Given the description of an element on the screen output the (x, y) to click on. 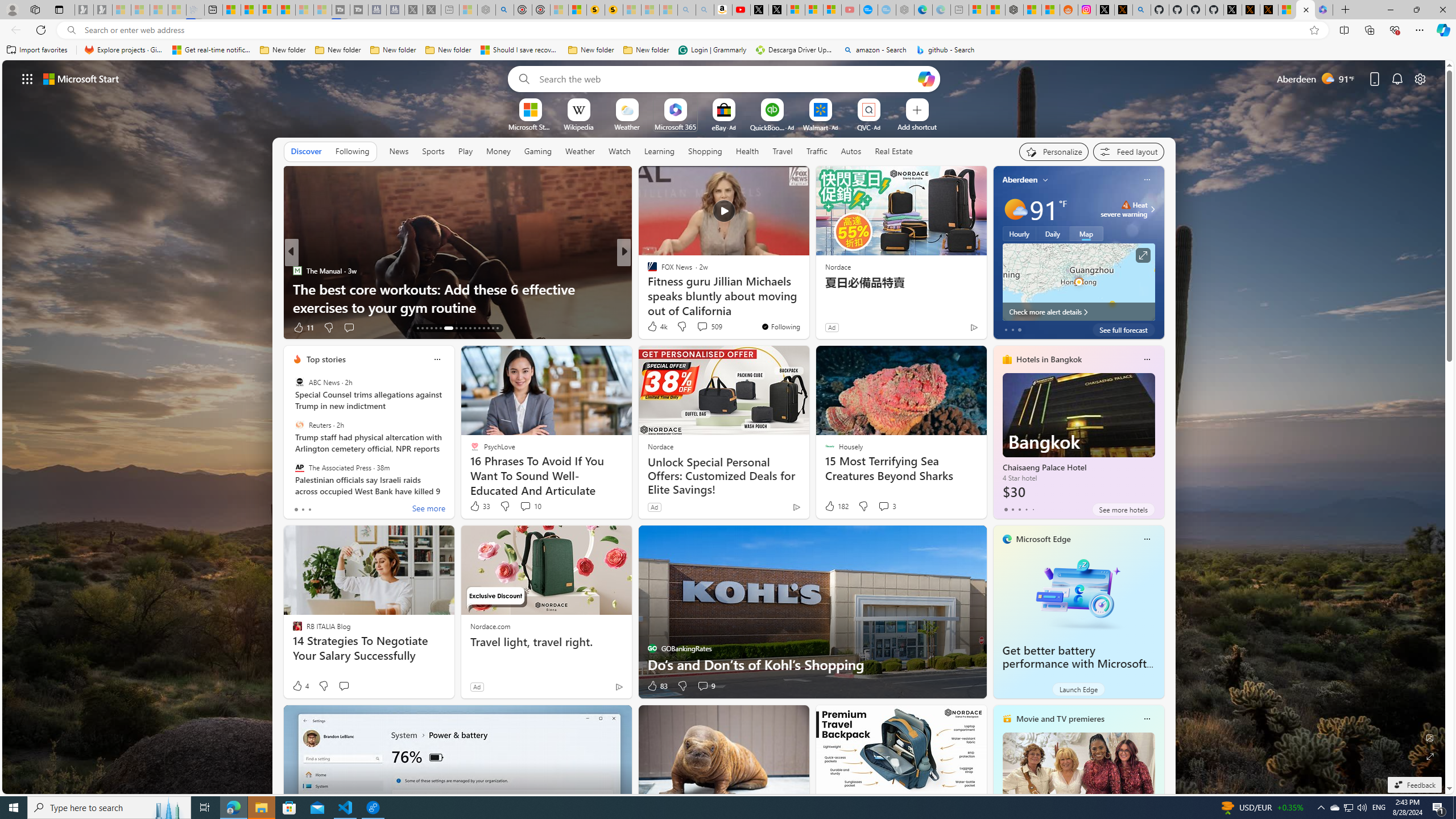
Newsletter Sign Up - Sleeping (102, 9)
Overview (268, 9)
Check more alert details (1077, 311)
Microsoft 365 (675, 126)
Chaisaeng Palace Hotel (1077, 436)
New folder (646, 49)
poe - Search (504, 9)
Wikipedia (578, 126)
